Given the description of an element on the screen output the (x, y) to click on. 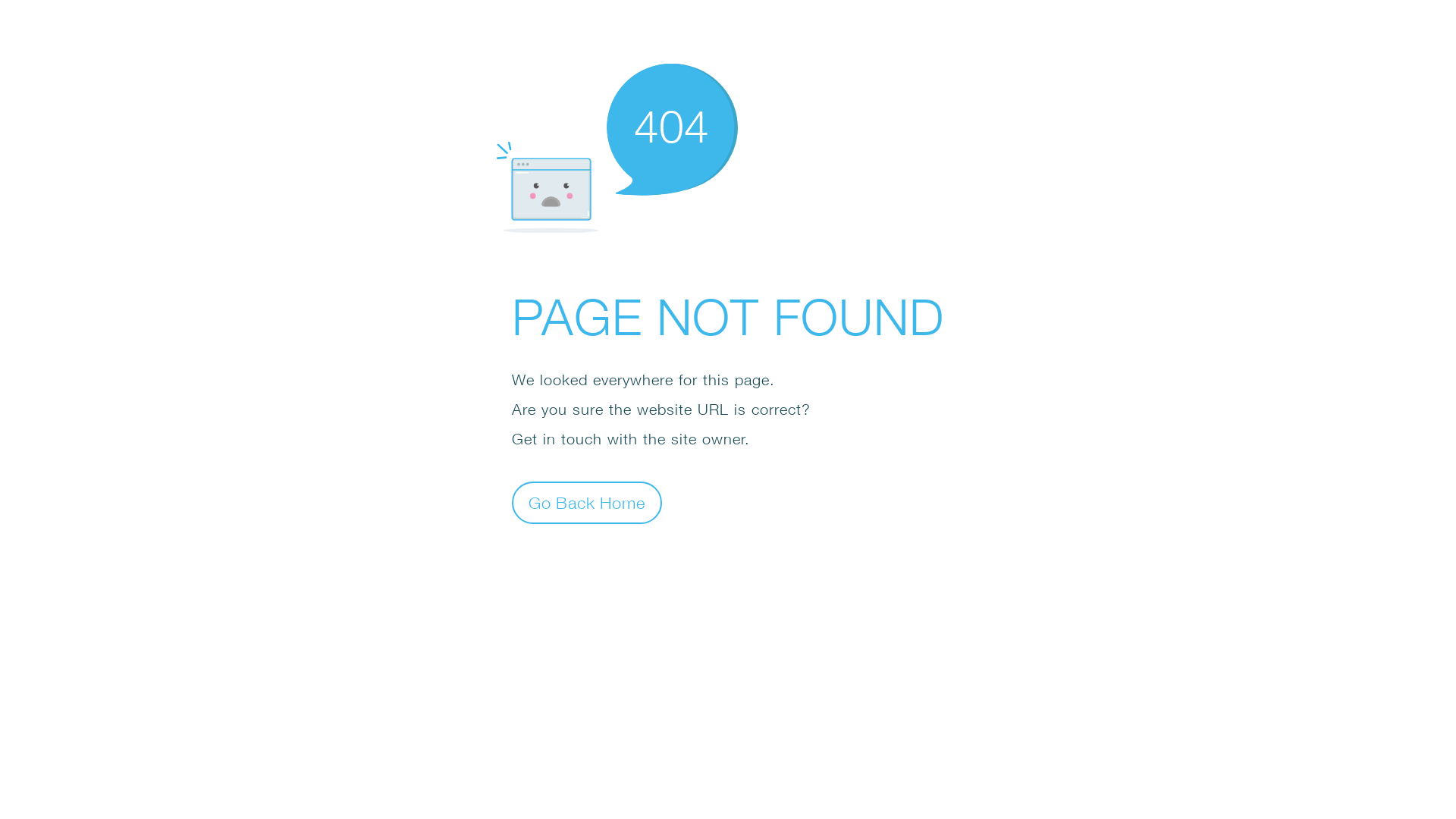
Go Back Home Element type: text (586, 502)
